Given the description of an element on the screen output the (x, y) to click on. 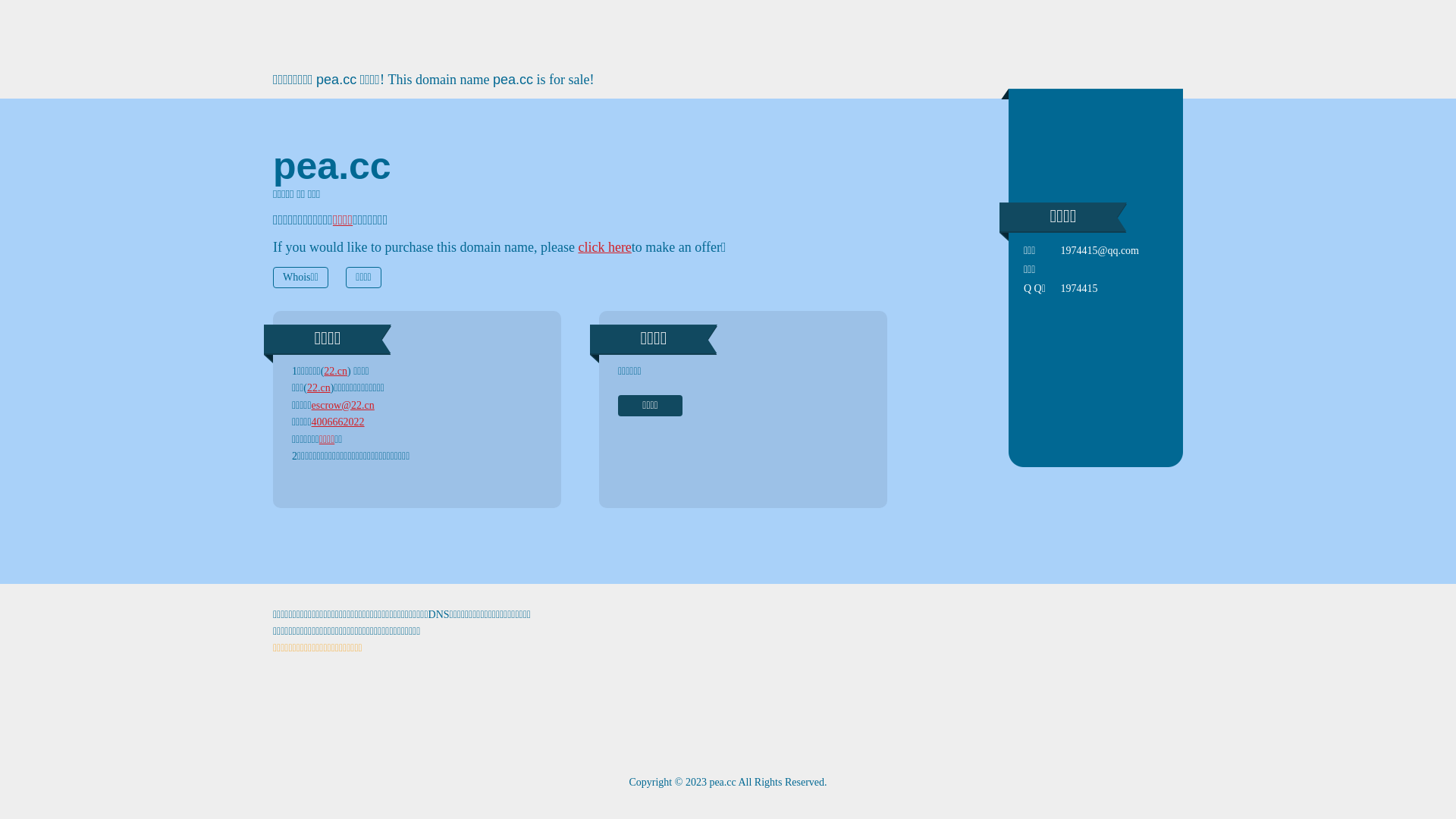
escrow@22.cn Element type: text (342, 405)
22.cn Element type: text (318, 387)
click here Element type: text (603, 246)
22.cn Element type: text (335, 370)
4006662022 Element type: text (337, 421)
